Given the description of an element on the screen output the (x, y) to click on. 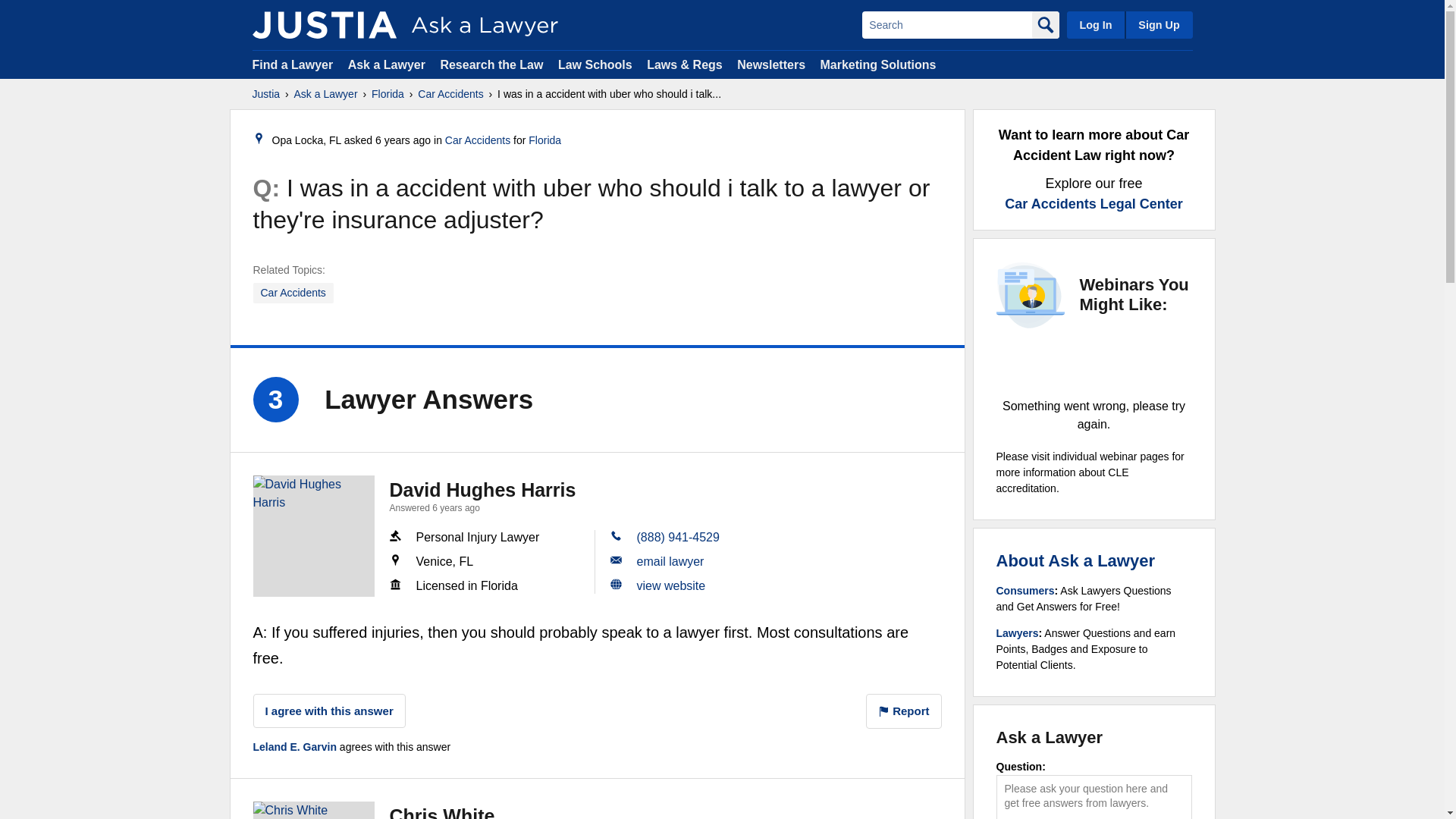
Chris White (313, 810)
Research the Law (491, 64)
cross (1093, 362)
Log In (1094, 24)
Ask a Lawyer (326, 93)
Marketing Solutions (877, 64)
Car Accidents (450, 93)
Ask a Lawyer - FAQs - Consumers (1024, 590)
I agree with this answer (329, 710)
Law Schools (594, 64)
David Hughes Harris (313, 536)
email lawyer (670, 561)
Find a Lawyer (292, 64)
Search (945, 24)
Ask a Lawyer (388, 64)
